Given the description of an element on the screen output the (x, y) to click on. 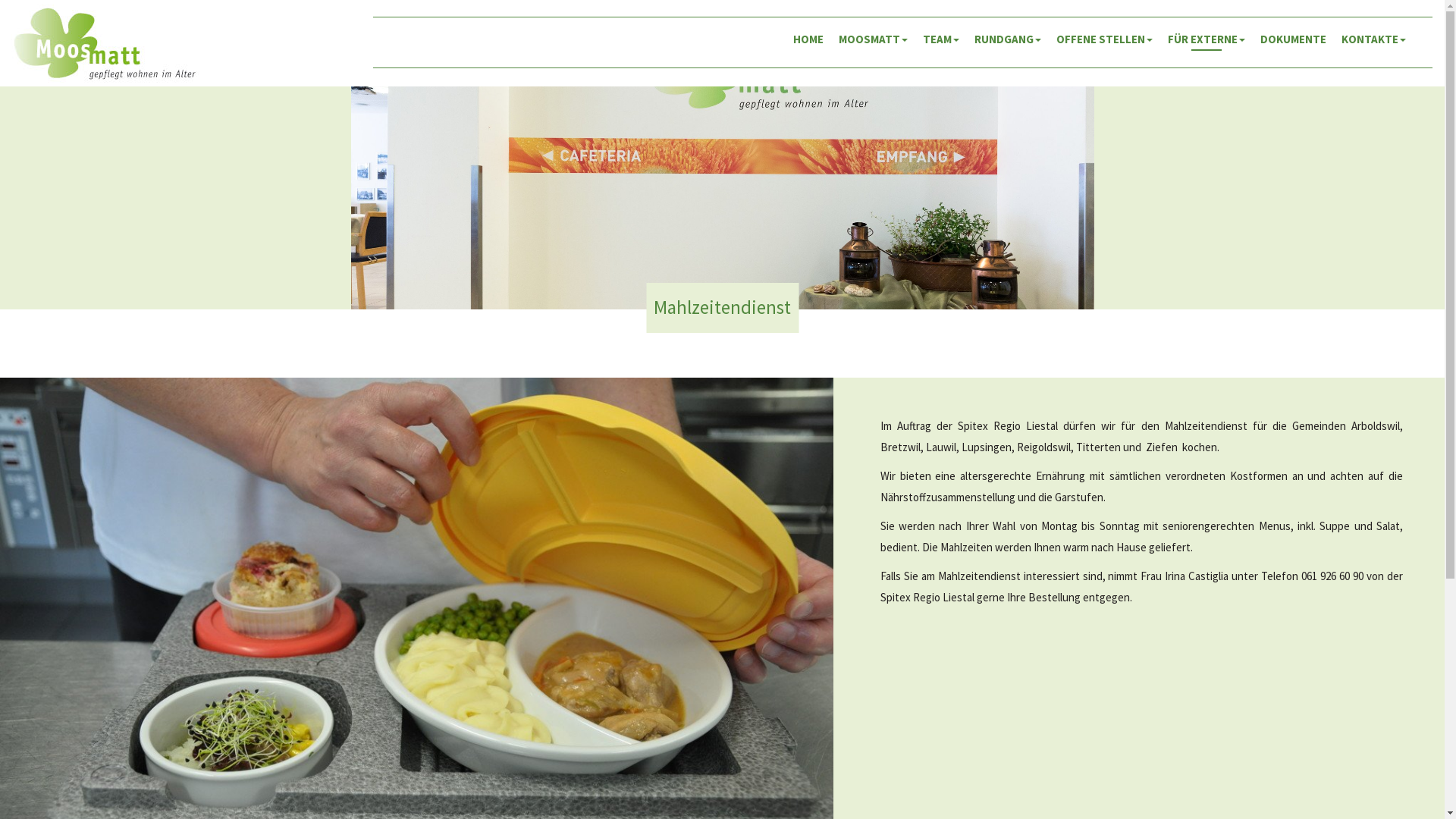
RUNDGANG Element type: text (1007, 39)
KONTAKTE Element type: text (1373, 39)
MOOSMATT Element type: text (872, 39)
TEAM Element type: text (940, 39)
HOME Element type: text (808, 39)
OFFENE STELLEN Element type: text (1104, 39)
DOKUMENTE Element type: text (1293, 39)
